Given the description of an element on the screen output the (x, y) to click on. 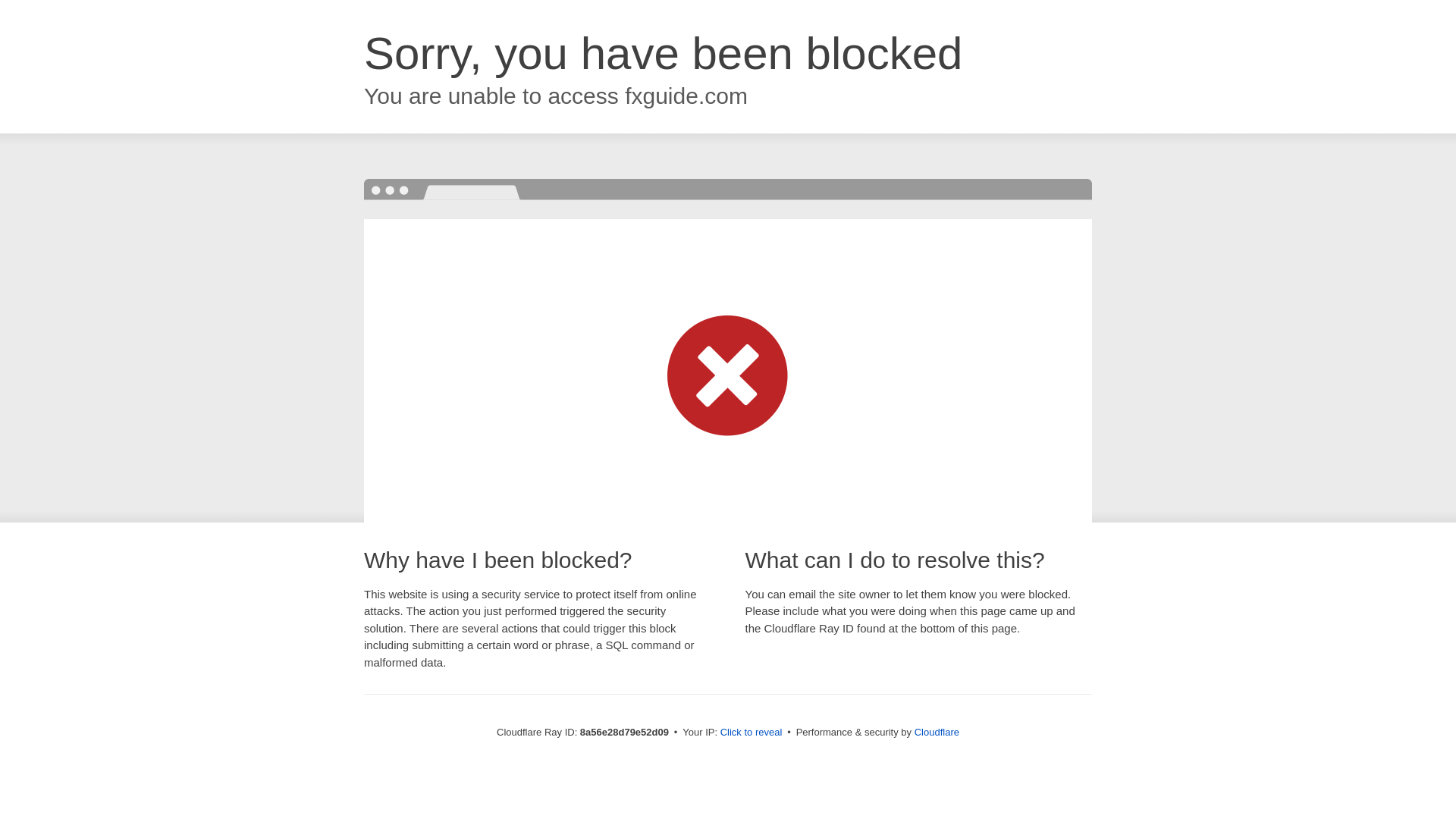
Click to reveal (751, 732)
Cloudflare (936, 731)
